Given the description of an element on the screen output the (x, y) to click on. 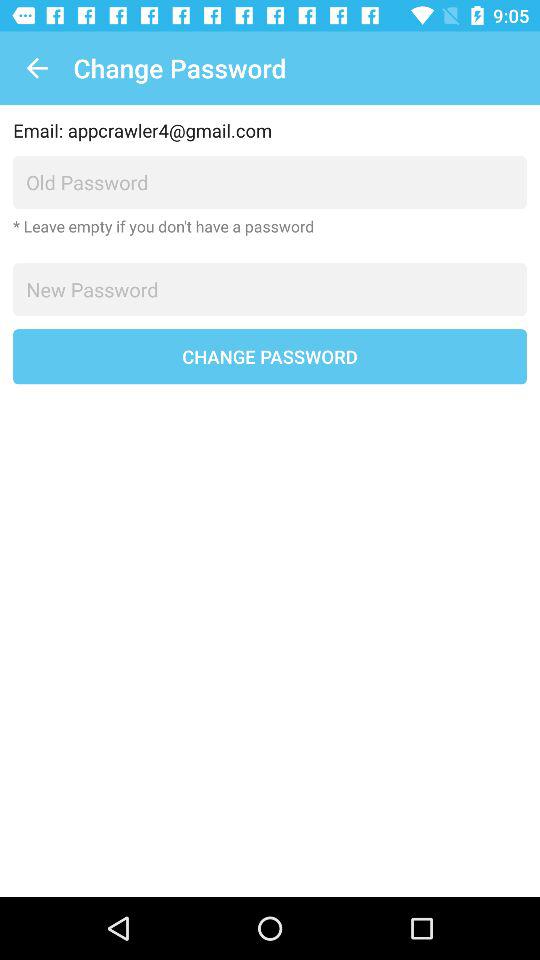
choose item to the left of the change password item (36, 68)
